Given the description of an element on the screen output the (x, y) to click on. 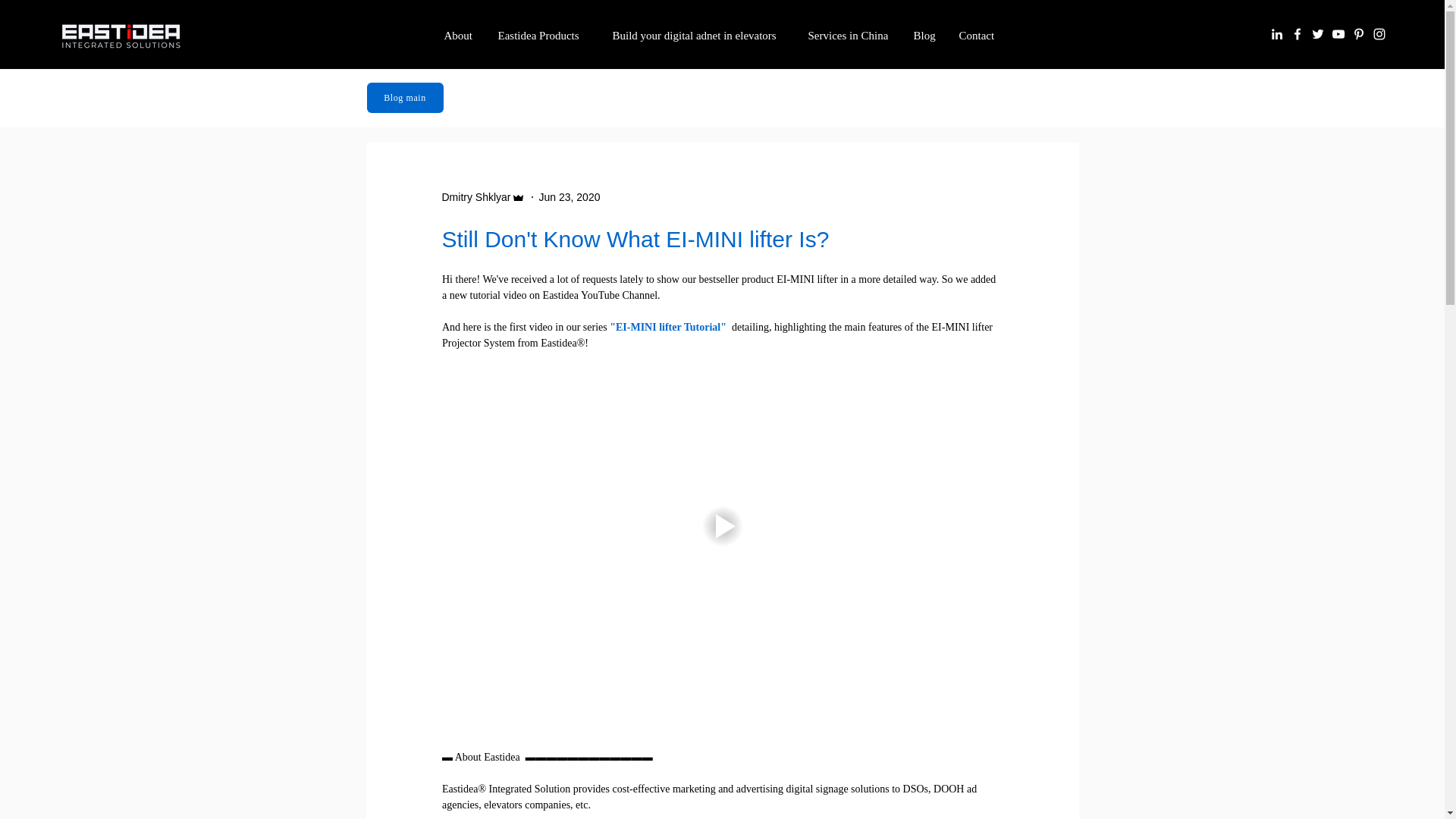
Dmitry Shklyar (476, 197)
Eastidea Products (543, 35)
Services in China (848, 35)
Contact (979, 35)
Home (121, 35)
About (459, 35)
Jun 23, 2020 (568, 196)
Blog (924, 35)
Build your digital adnet in elevators (697, 35)
Blog main (405, 97)
